Given the description of an element on the screen output the (x, y) to click on. 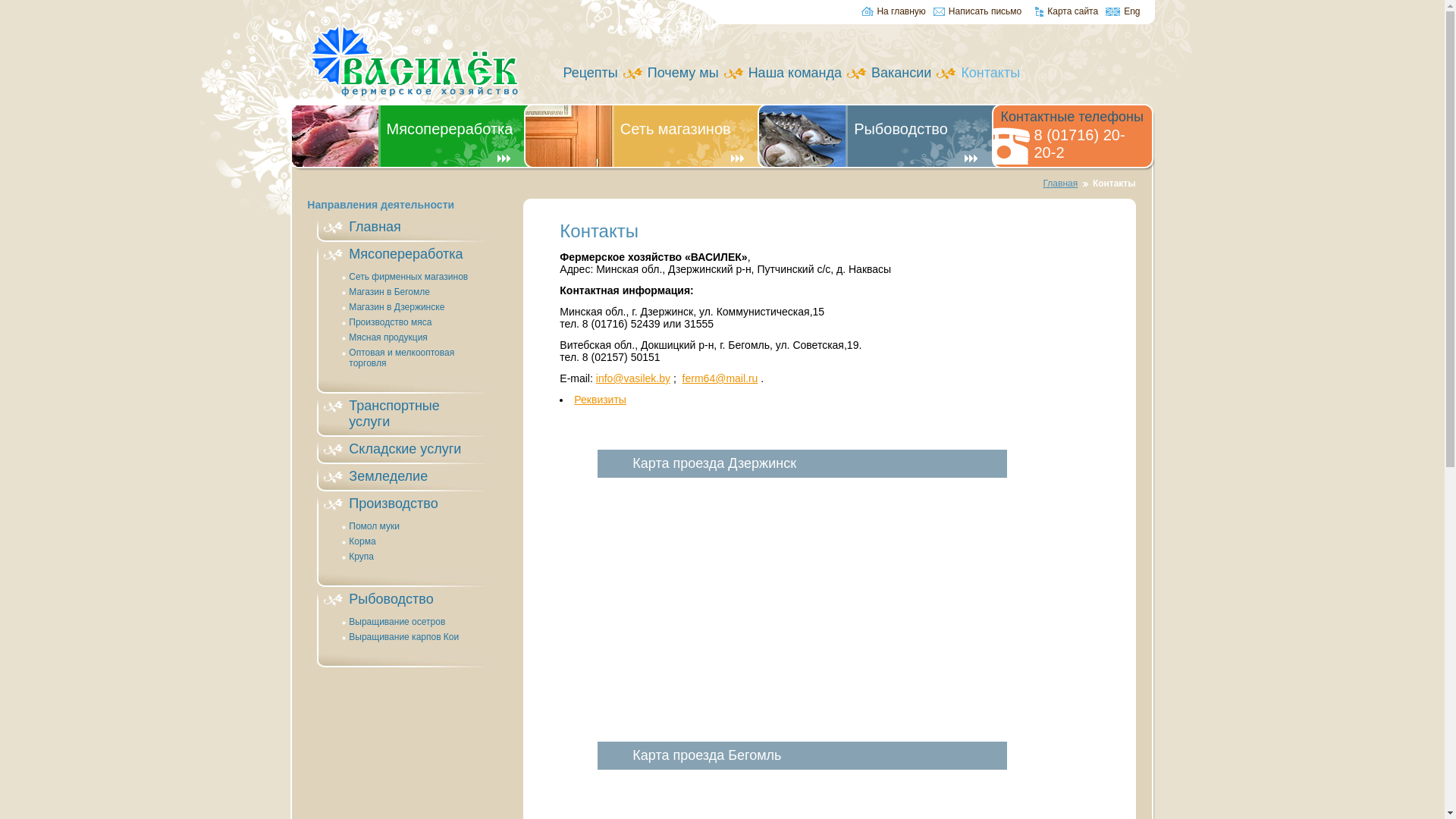
info@vasilek.by Element type: text (633, 378)
Eng Element type: text (1122, 12)
ferm64@mail.ru Element type: text (720, 378)
